Given the description of an element on the screen output the (x, y) to click on. 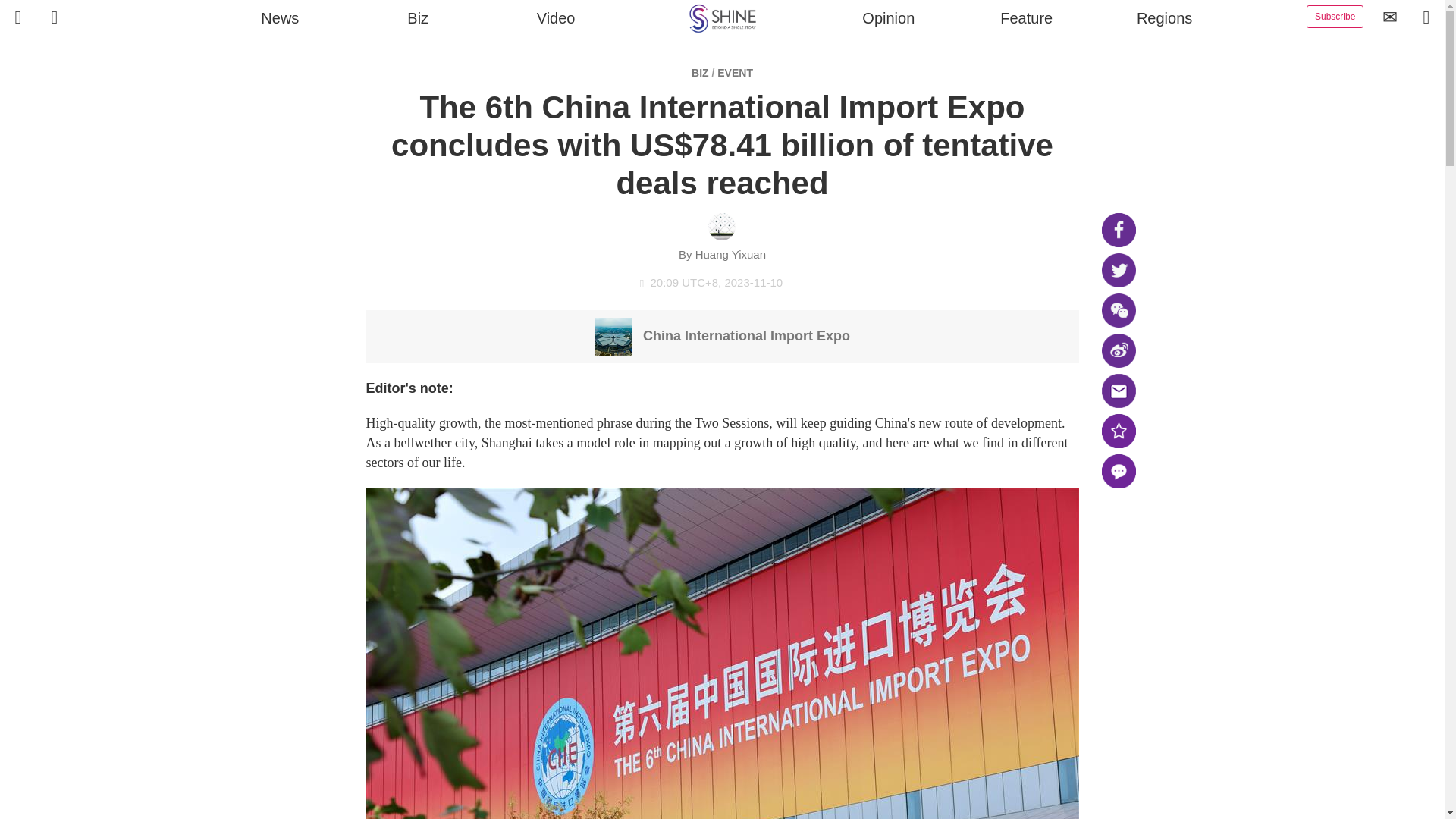
Share via email (1117, 390)
Add to favorites (1117, 430)
EVENT (734, 72)
Share your comments (1117, 471)
BIZ (700, 72)
China International Import Expo (722, 335)
